Given the description of an element on the screen output the (x, y) to click on. 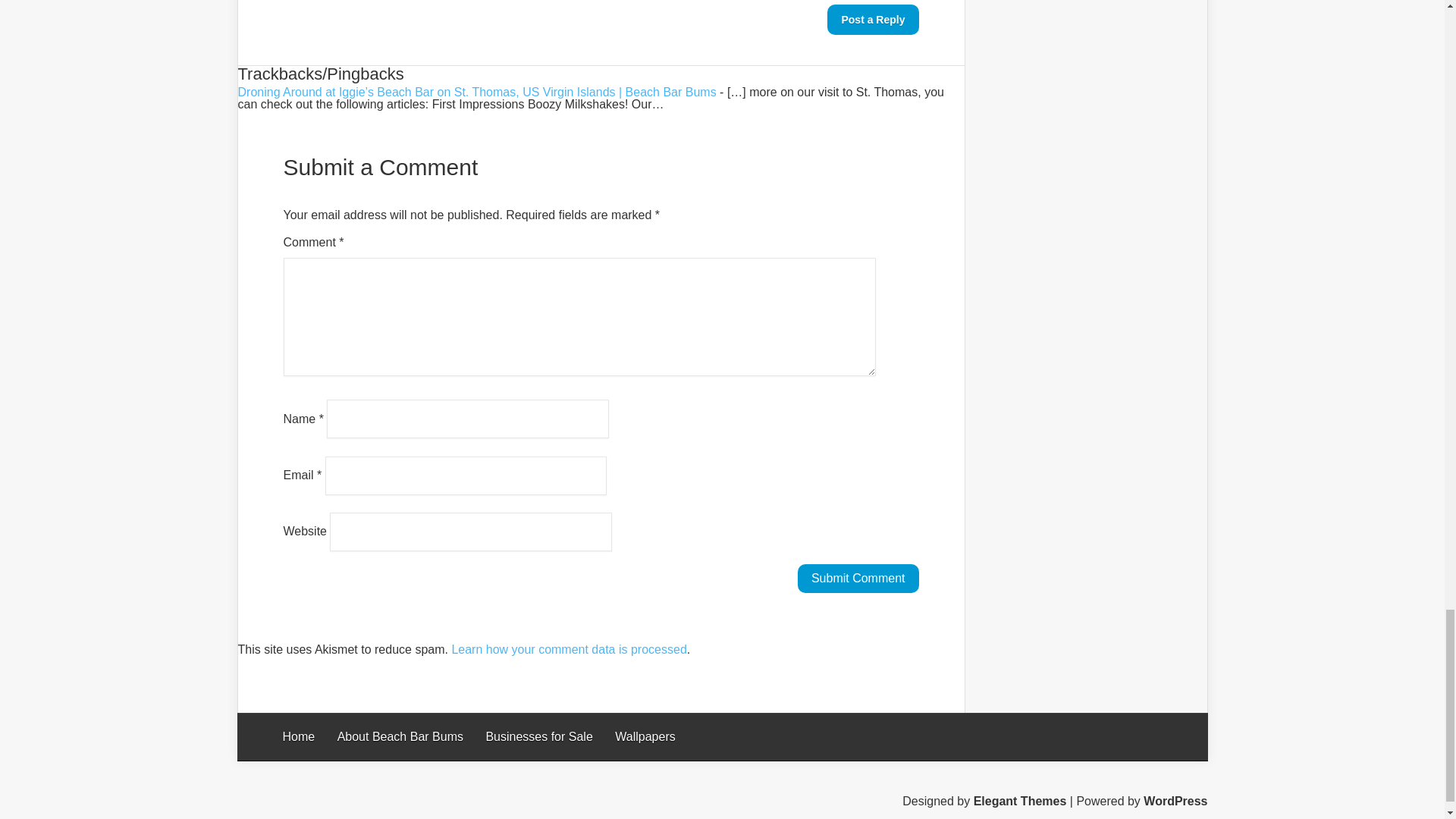
Submit Comment (857, 578)
Premium WordPress Themes (1020, 800)
